Given the description of an element on the screen output the (x, y) to click on. 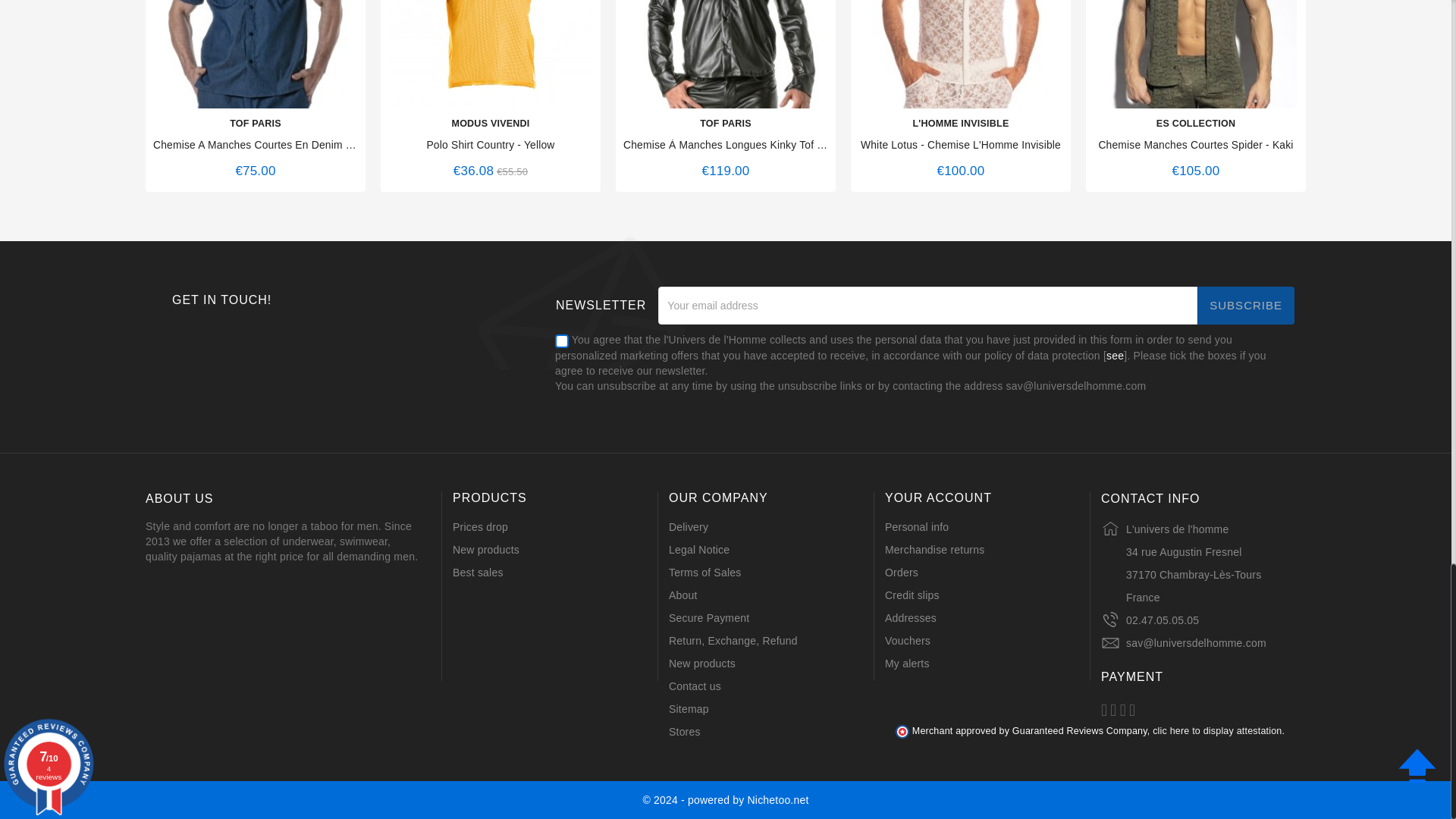
Subscribe (1245, 305)
